Given the description of an element on the screen output the (x, y) to click on. 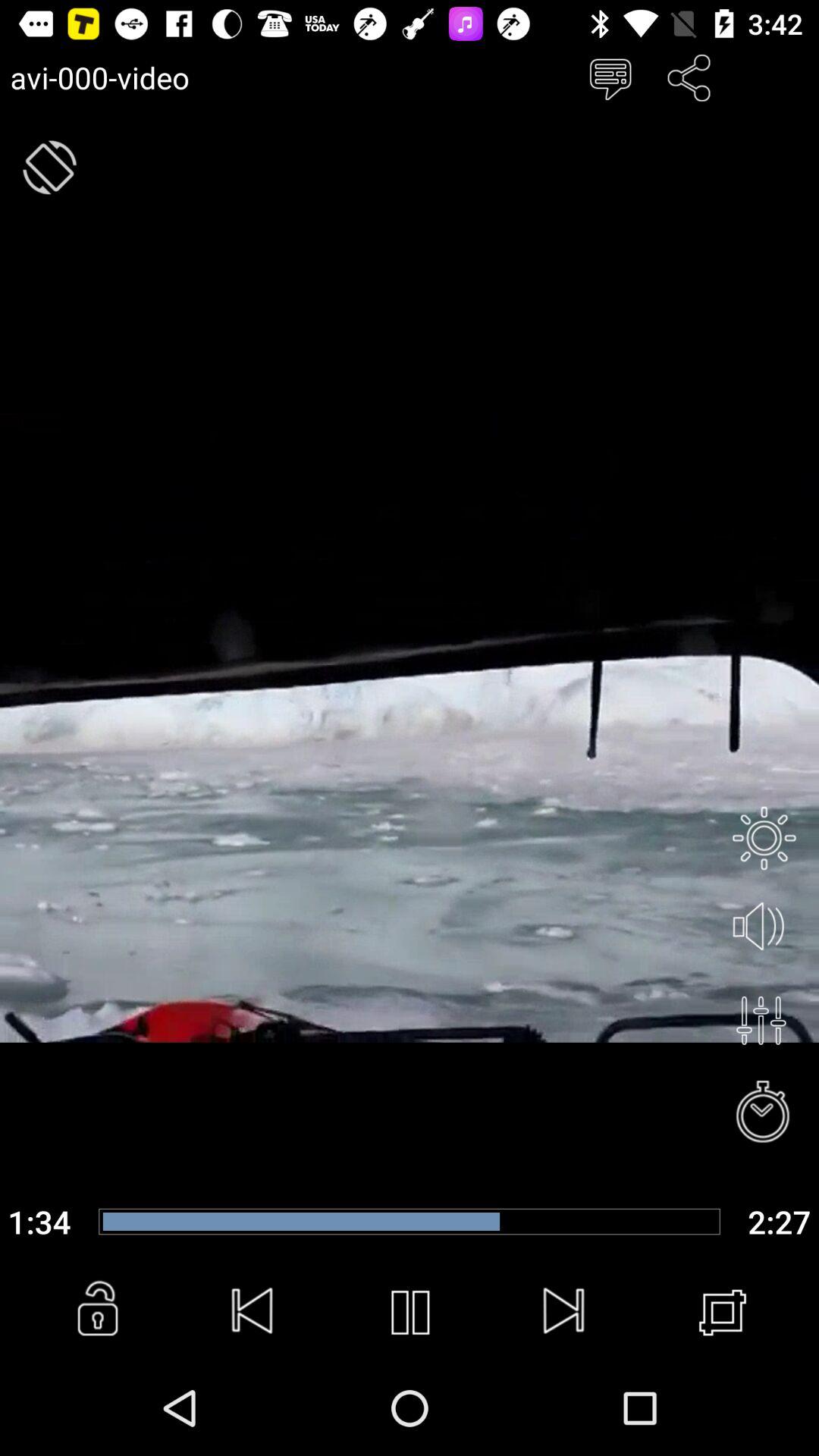
video play (409, 1312)
